Given the description of an element on the screen output the (x, y) to click on. 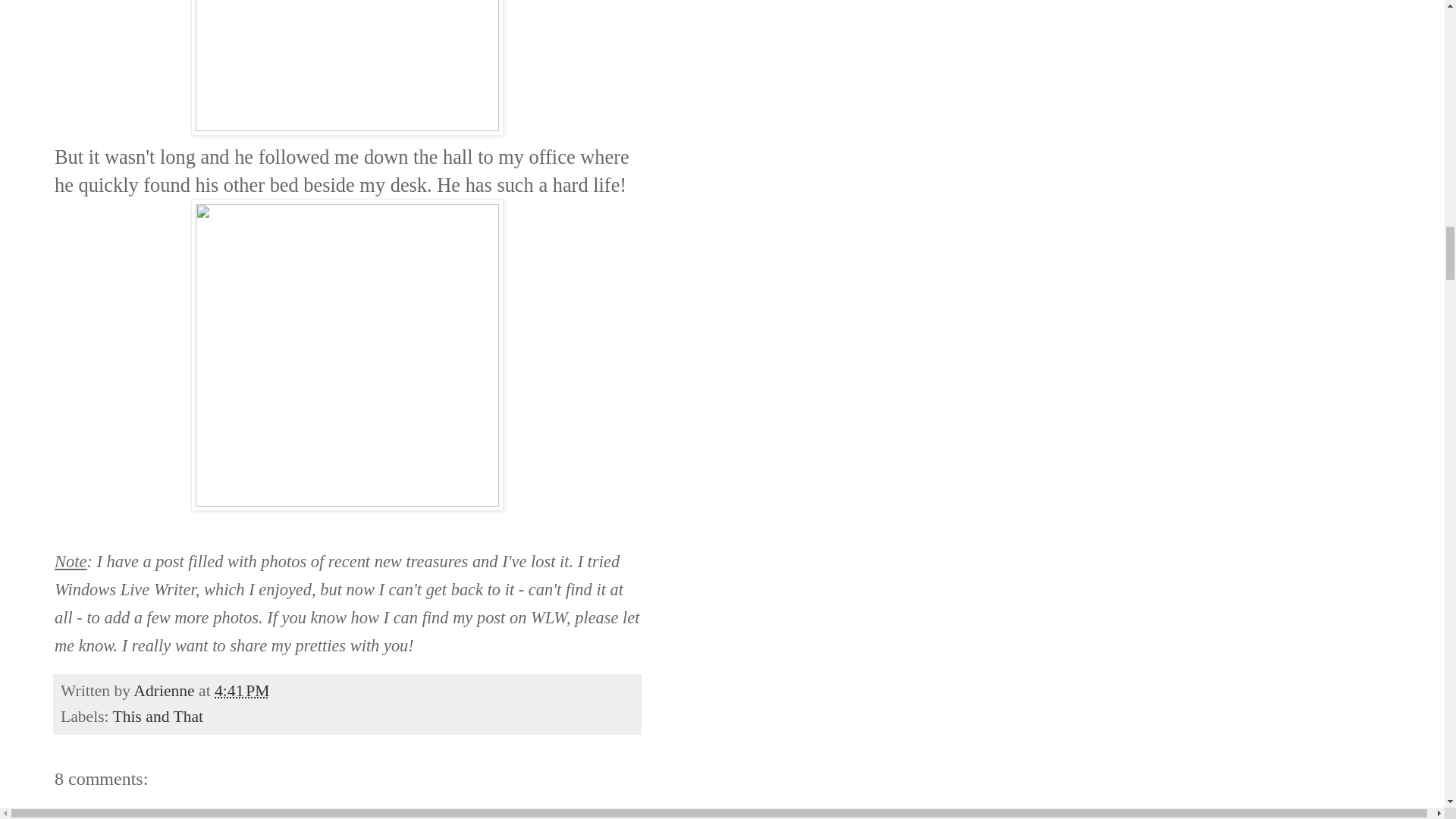
author profile (165, 690)
permanent link (241, 690)
Adrienne (165, 690)
This and That (158, 716)
